Given the description of an element on the screen output the (x, y) to click on. 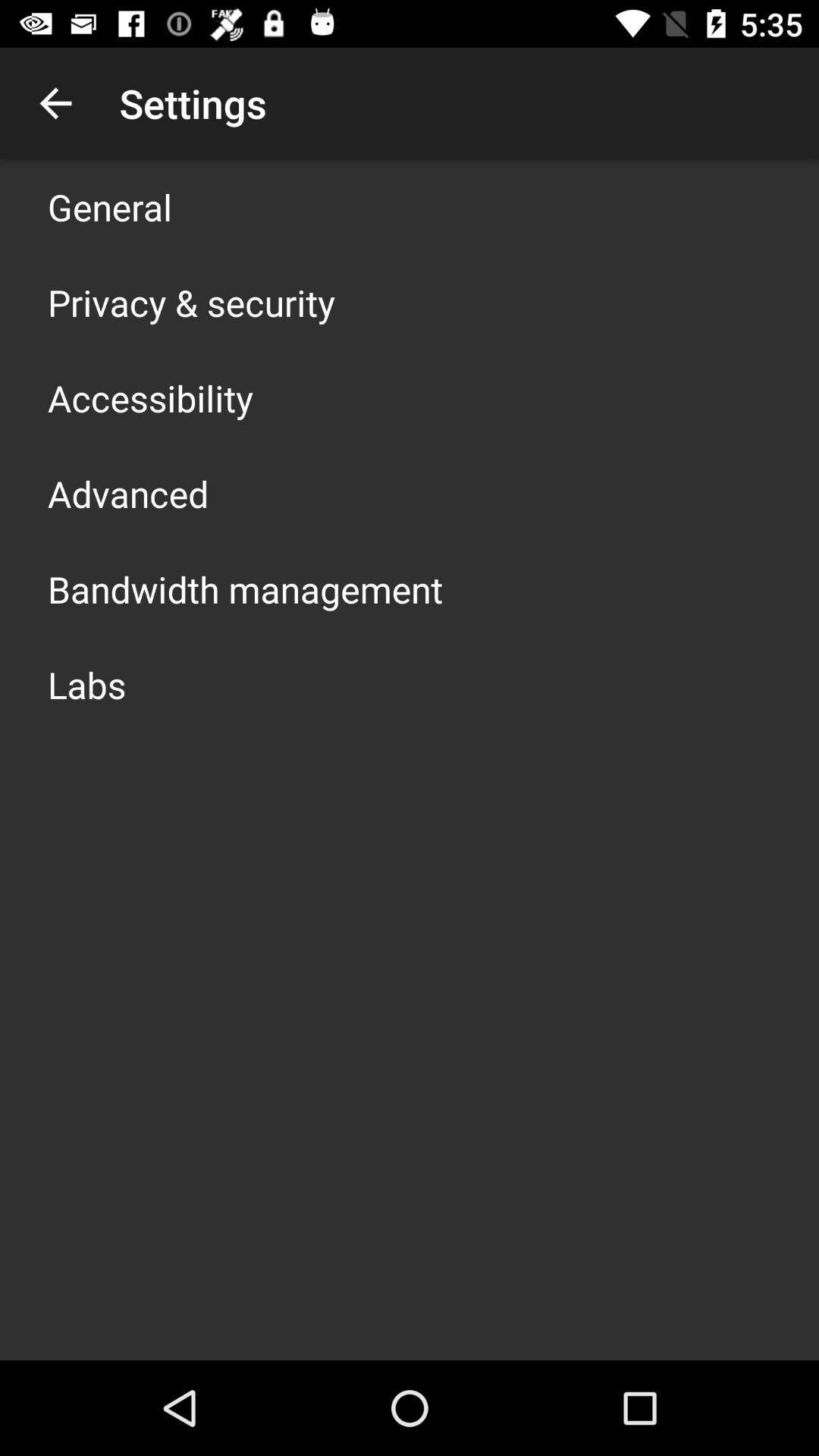
press the advanced (127, 493)
